Given the description of an element on the screen output the (x, y) to click on. 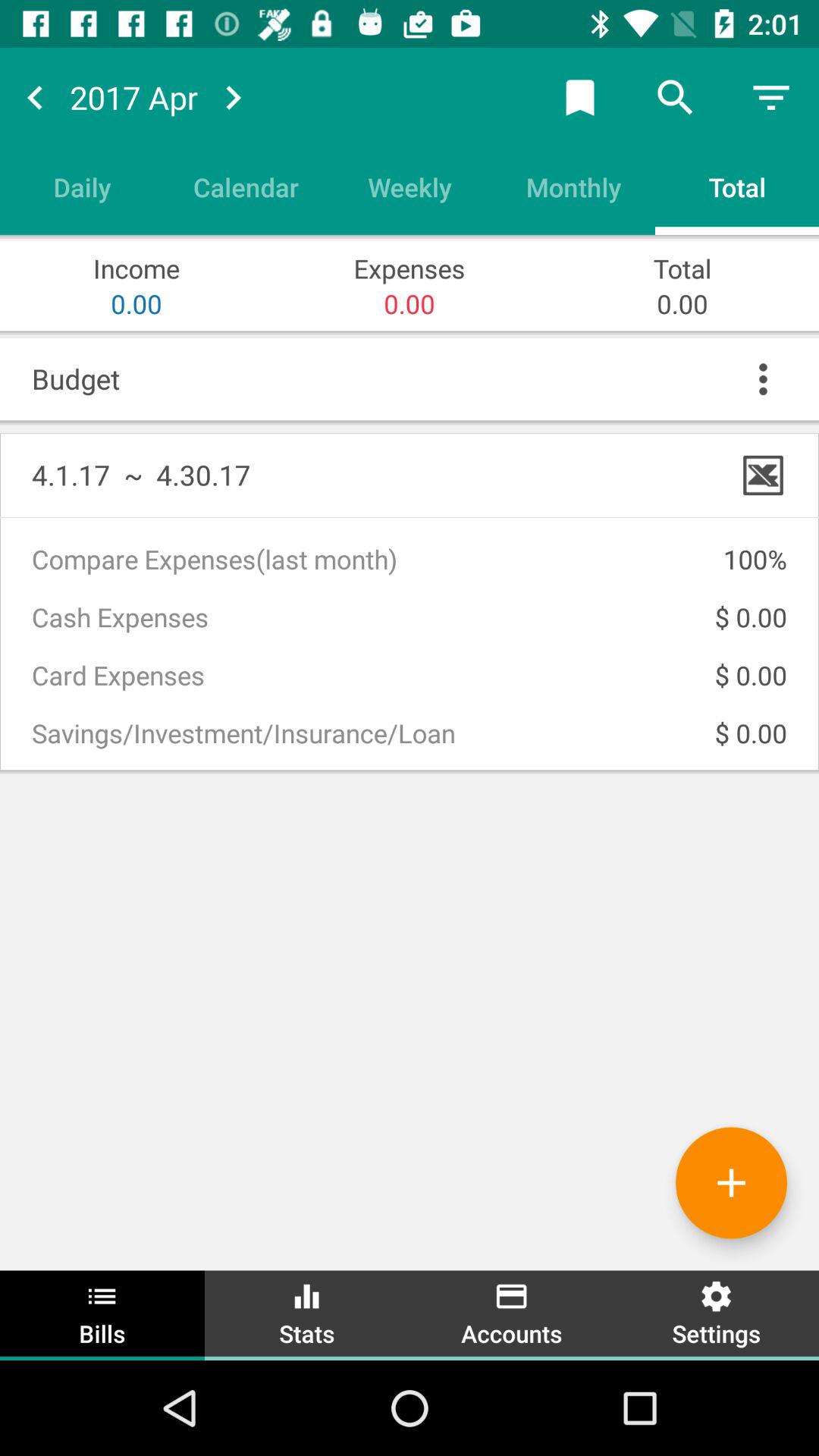
turn on the icon to the right of the weekly (573, 186)
